Given the description of an element on the screen output the (x, y) to click on. 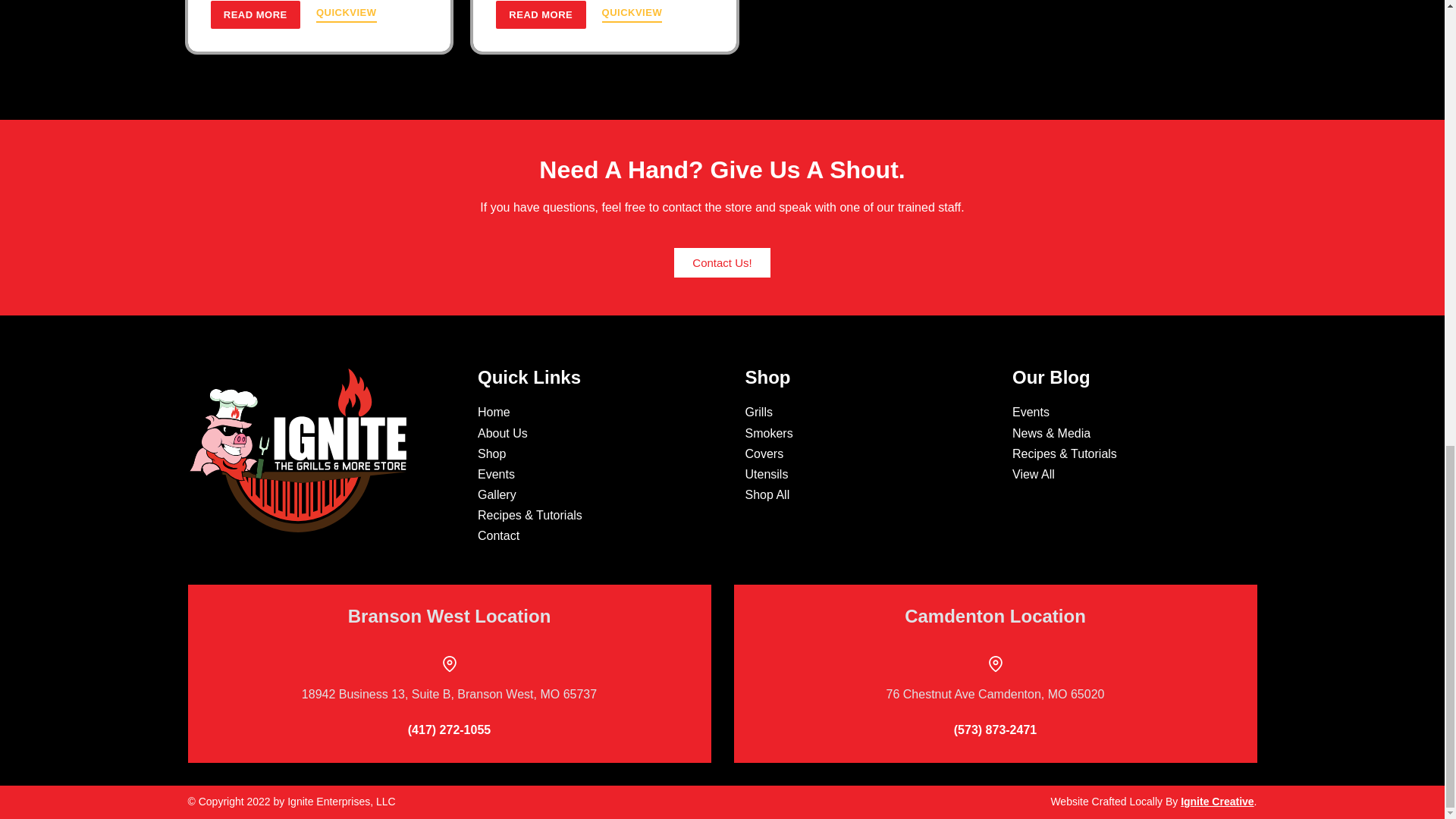
QUICKVIEW (632, 14)
QUICKVIEW (346, 14)
READ MORE (255, 14)
QUICKVIEW (346, 14)
